Given the description of an element on the screen output the (x, y) to click on. 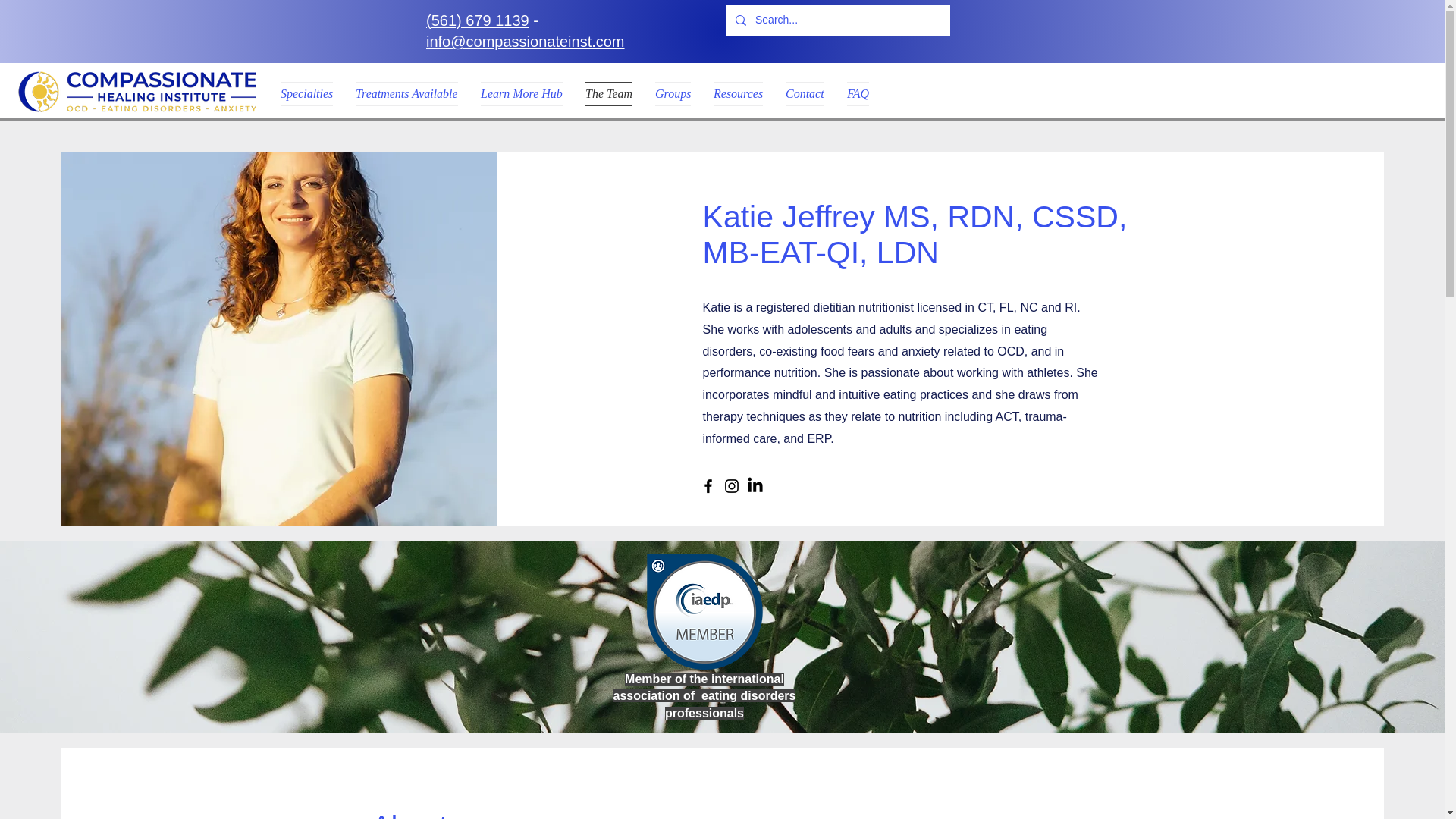
Learn More Hub (520, 93)
Contact (804, 93)
Specialties (312, 93)
CHI Logo.png (136, 91)
certified-eating-disorders-specialist.png (703, 611)
Resources (737, 93)
Groups (672, 93)
FAQ (857, 93)
The Team (608, 93)
Treatments Available (405, 93)
